Given the description of an element on the screen output the (x, y) to click on. 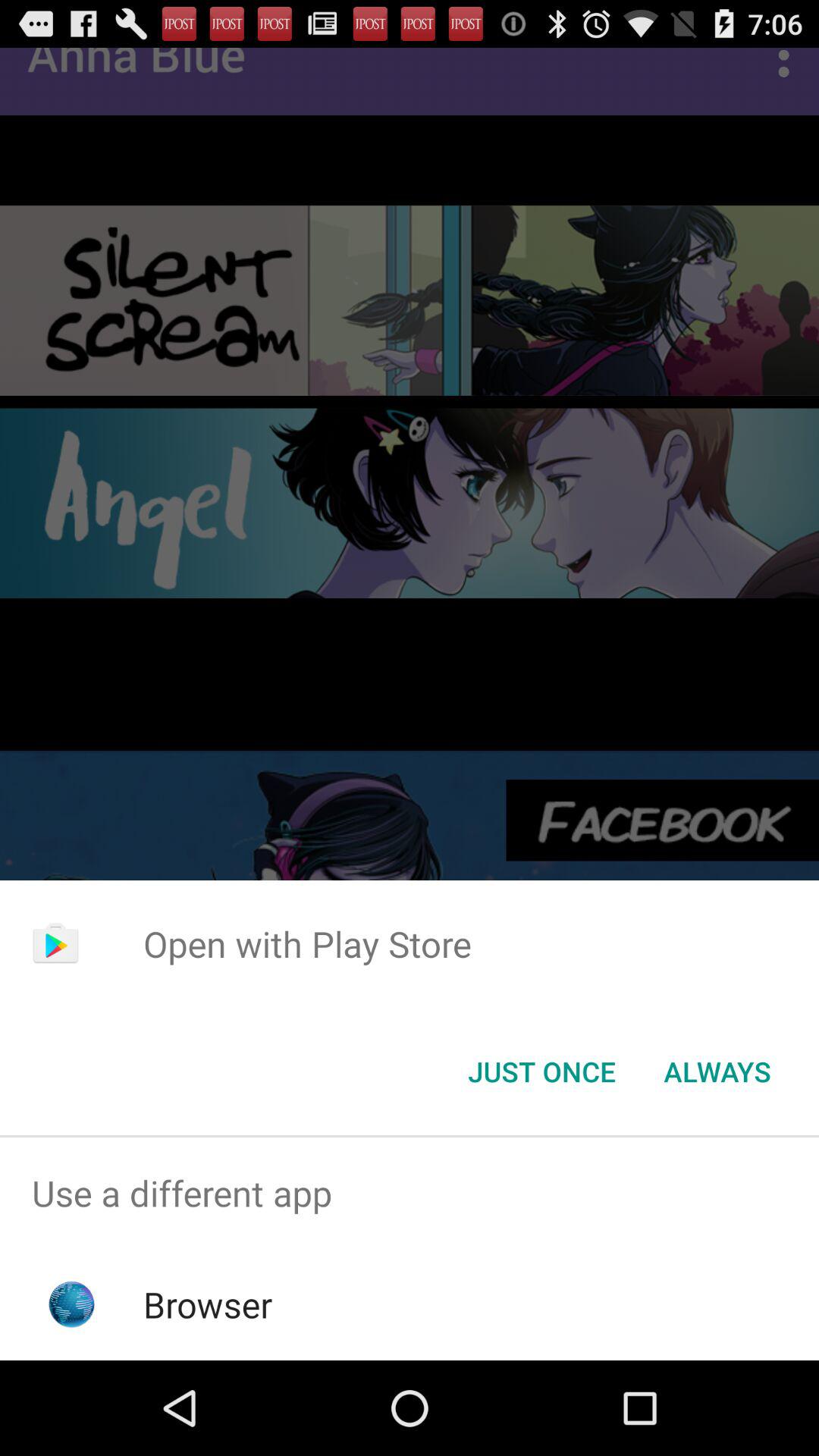
swipe to the browser item (207, 1304)
